Given the description of an element on the screen output the (x, y) to click on. 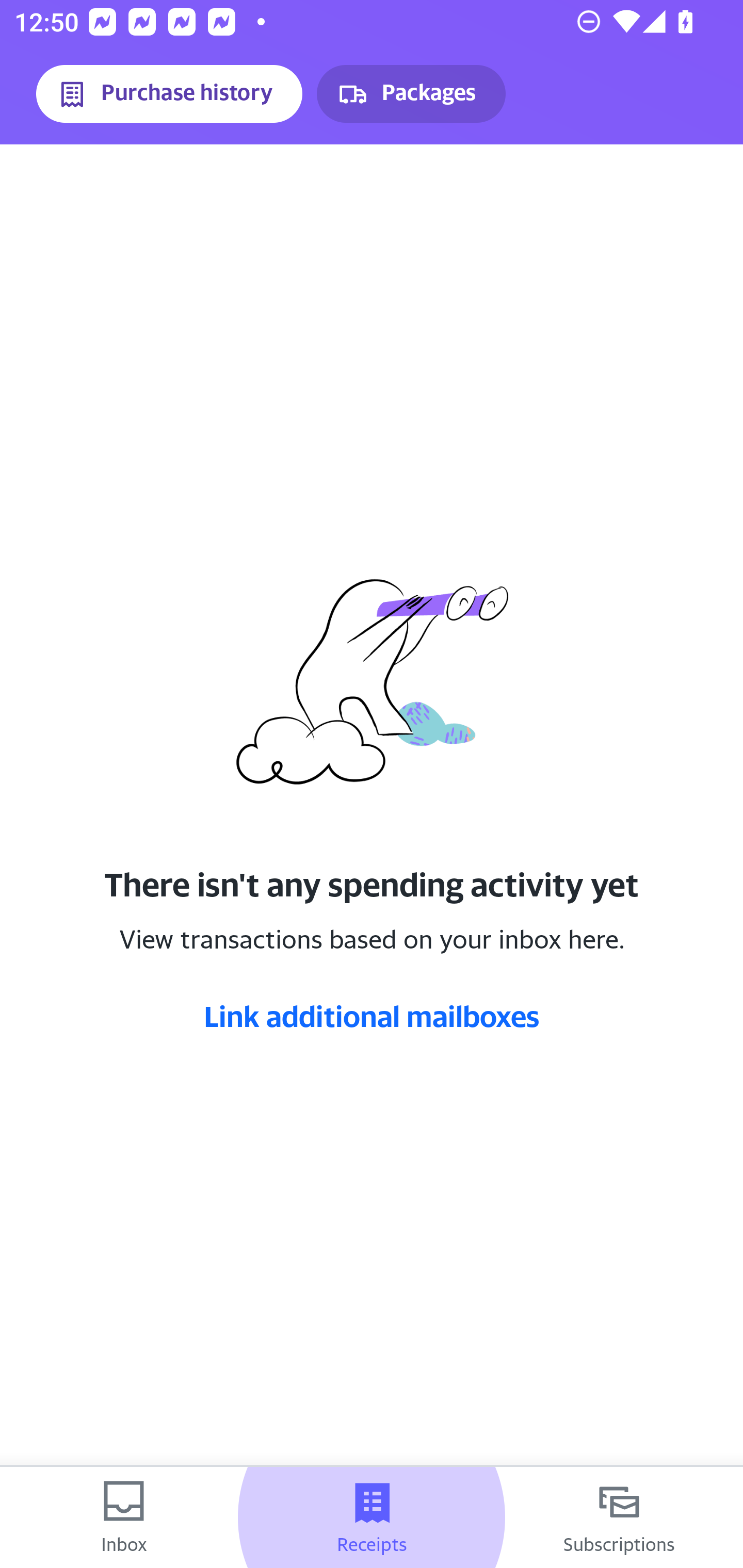
Packages (410, 93)
Link additional mailboxes (371, 1015)
Inbox (123, 1517)
Receipts (371, 1517)
Subscriptions (619, 1517)
